Given the description of an element on the screen output the (x, y) to click on. 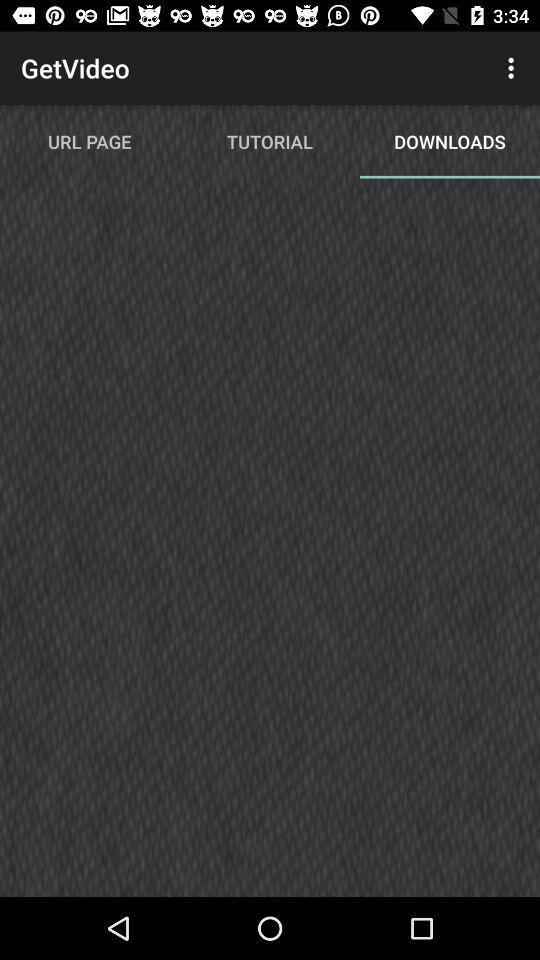
select item next to tutorial item (513, 67)
